Given the description of an element on the screen output the (x, y) to click on. 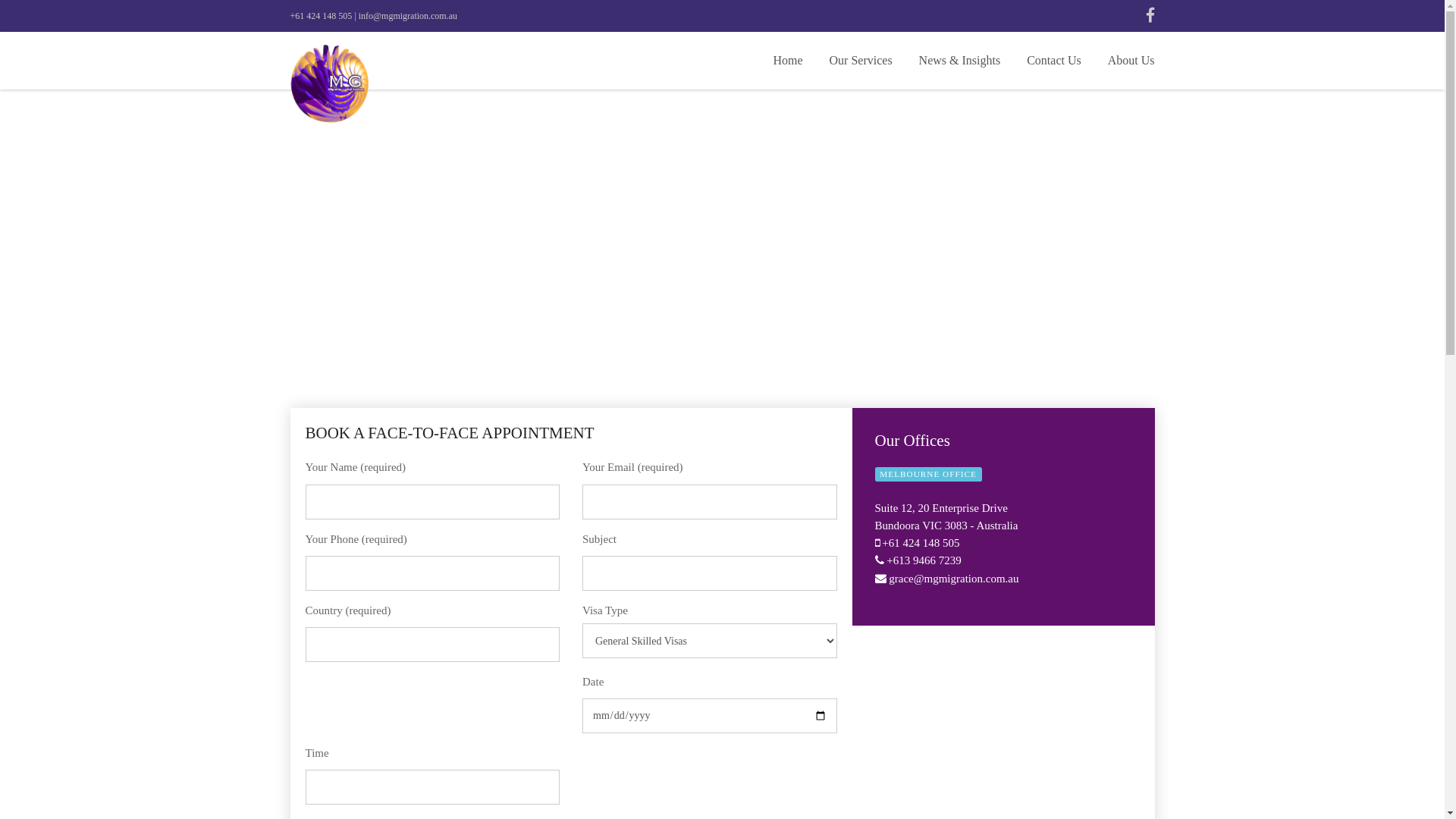
About Us Element type: text (1130, 60)
Our Services Element type: text (860, 60)
Home Element type: text (787, 60)
News & Insights Element type: text (960, 60)
Contact Us Element type: text (1053, 60)
